Given the description of an element on the screen output the (x, y) to click on. 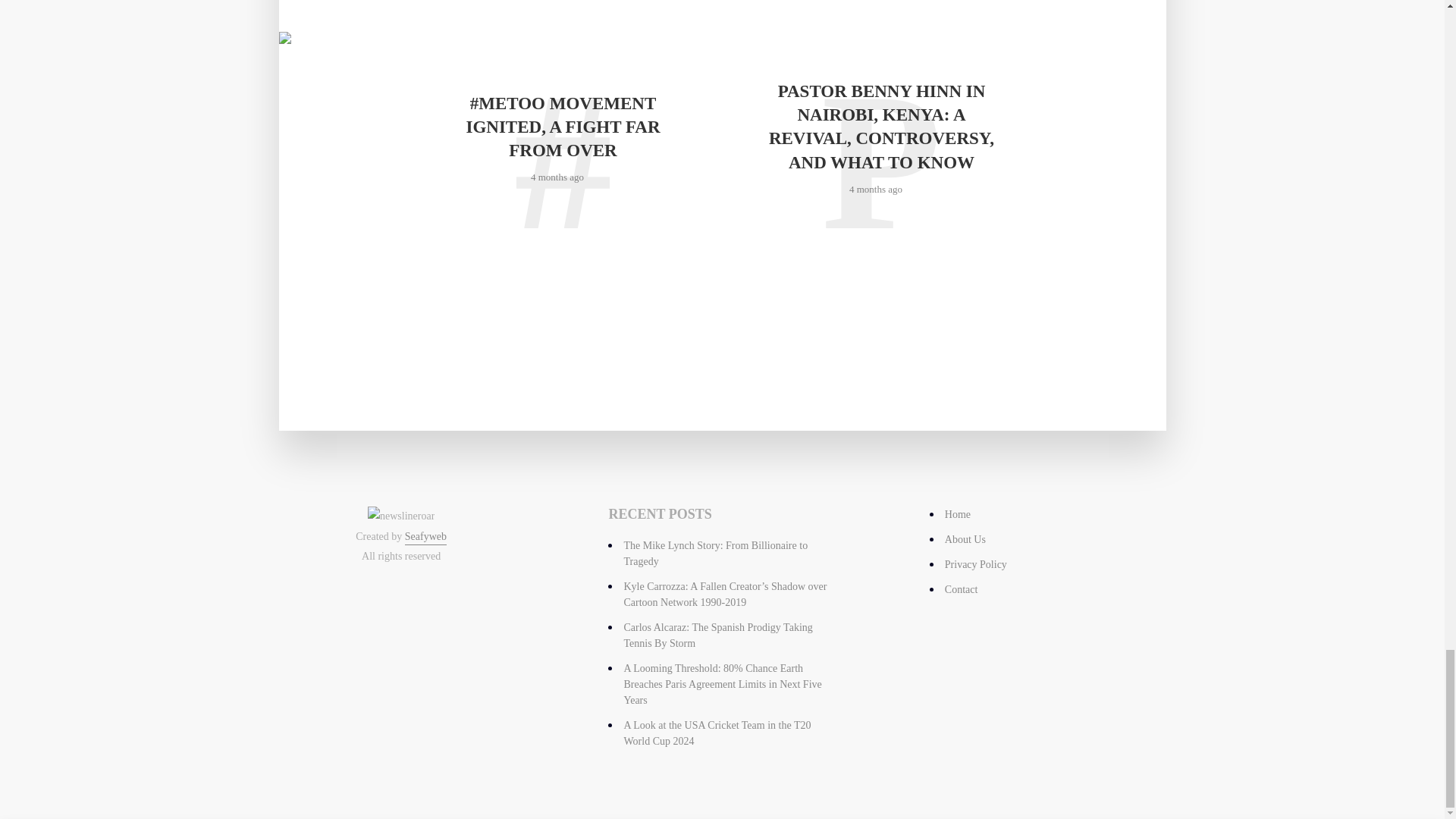
Seafyweb (425, 537)
Carlos Alcaraz: The Spanish Prodigy Taking Tennis By Storm (717, 635)
Home (957, 514)
The Mike Lynch Story: From Billionaire to Tragedy (715, 553)
About Us (964, 539)
Contact (961, 589)
A Look at the USA Cricket Team in the T20 World Cup 2024 (716, 732)
Privacy Policy (975, 564)
